Given the description of an element on the screen output the (x, y) to click on. 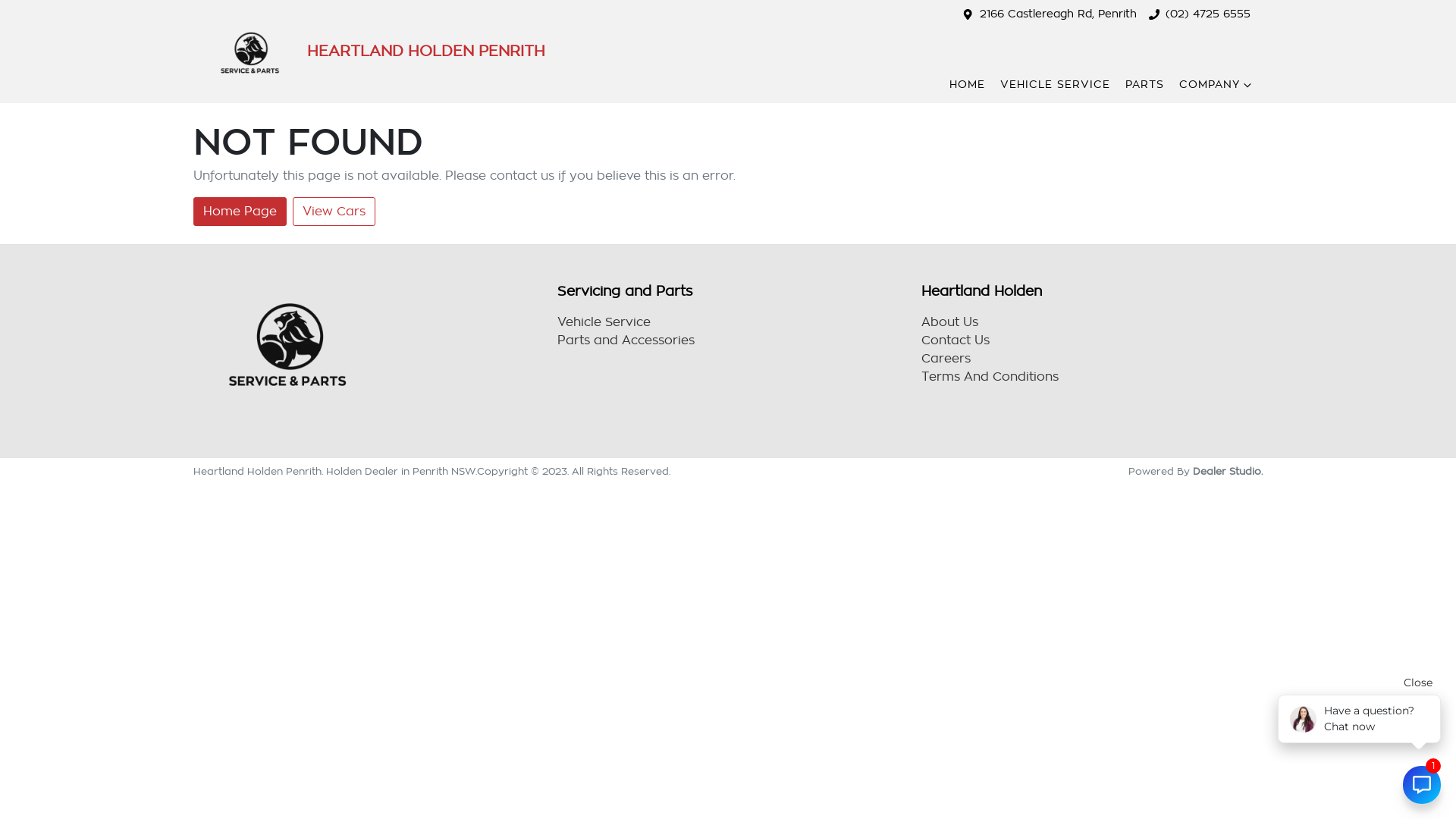
View Cars Element type: text (333, 211)
VEHICLE SERVICE Element type: text (1055, 84)
PARTS Element type: text (1144, 84)
HEARTLAND HOLDEN PENRITH Element type: text (369, 51)
Terms And Conditions Element type: text (989, 376)
About Us Element type: text (949, 322)
COMPANY Element type: text (1216, 84)
Parts and Accessories Element type: text (625, 340)
Dealer Studio. Element type: text (1227, 471)
2166 Castlereagh Rd, Penrith Element type: text (1057, 13)
Vehicle Service Element type: text (603, 322)
Contact Us Element type: text (955, 340)
Careers Element type: text (945, 358)
Home Page Element type: text (239, 211)
(02) 4725 6555 Element type: text (1207, 13)
HOME Element type: text (967, 84)
